Given the description of an element on the screen output the (x, y) to click on. 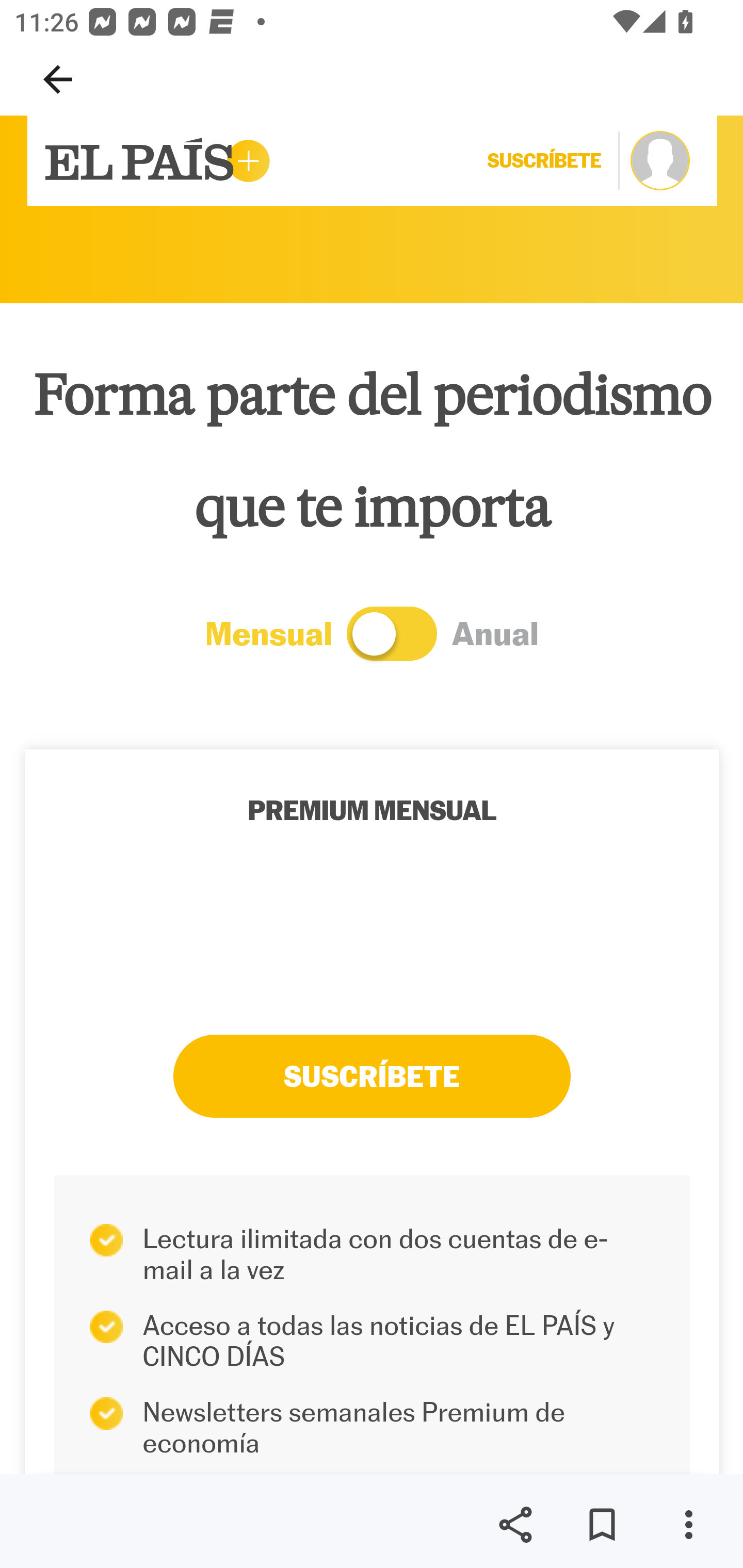
Navigate up (57, 79)
elpais (157, 160)
SUSCRÍBETE (553, 160)
SUSCRÍBETE (371, 1076)
Share (514, 1524)
Save for later (601, 1524)
More options (688, 1524)
